Given the description of an element on the screen output the (x, y) to click on. 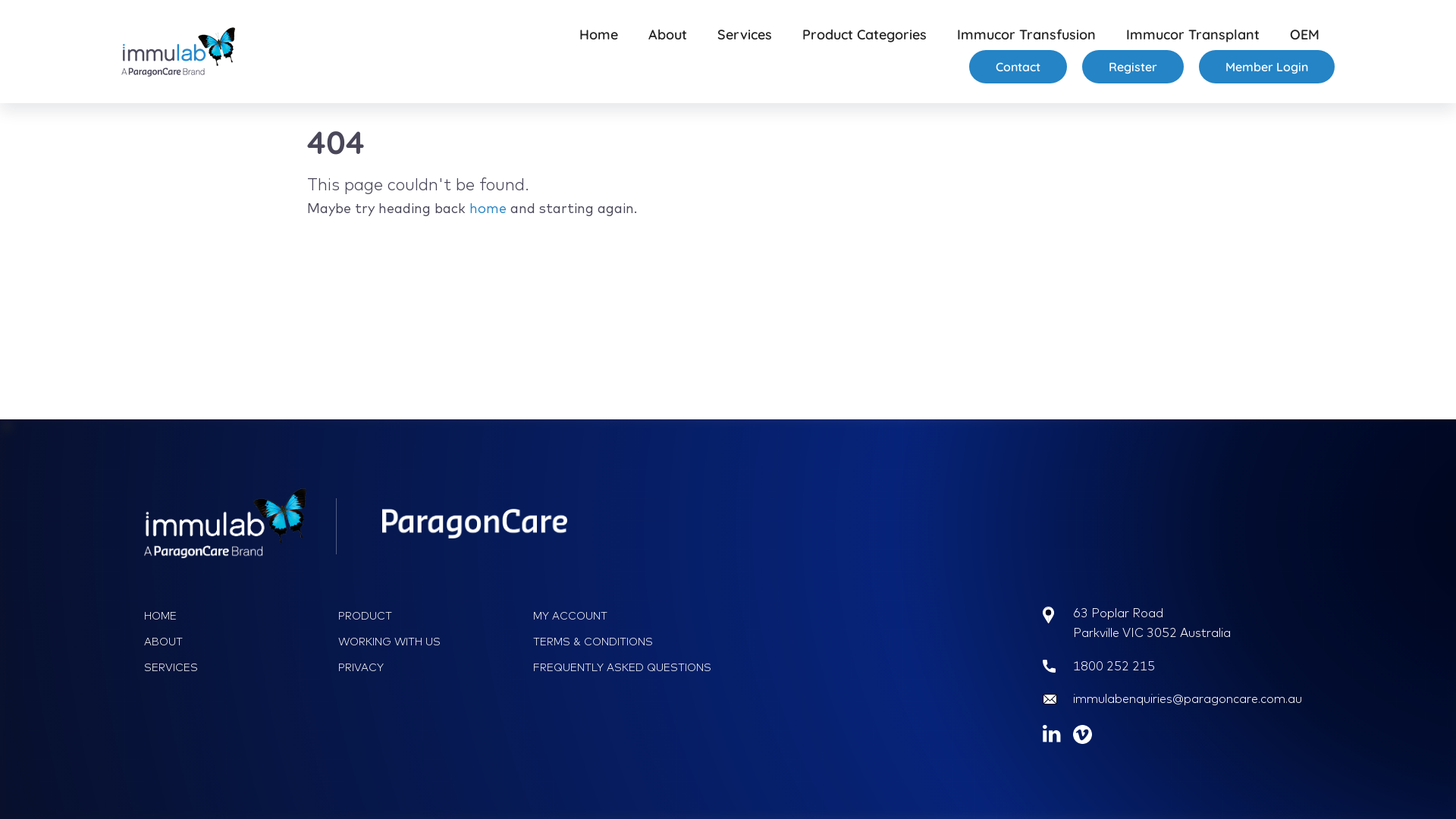
Member Login Element type: text (1266, 66)
immulabenquiries@paragoncare.com.au Element type: text (1187, 698)
Register Element type: text (1132, 66)
Services Element type: text (744, 34)
ABOUT Element type: text (235, 641)
TERMS & CONDITIONS Element type: text (624, 641)
SERVICES Element type: text (235, 666)
About Element type: text (667, 34)
WORKING WITH US Element type: text (429, 641)
FREQUENTLY ASKED QUESTIONS Element type: text (624, 666)
home Element type: text (487, 207)
Immucor Transplant Element type: text (1192, 34)
OEM Element type: text (1304, 34)
Product Categories Element type: text (864, 34)
HOME Element type: text (235, 615)
PRIVACY Element type: text (429, 666)
PRODUCT Element type: text (429, 615)
Immucor Transfusion Element type: text (1026, 34)
MY ACCOUNT Element type: text (624, 615)
1800 252 215 Element type: text (1113, 665)
Contact Element type: text (1017, 66)
Home Element type: text (598, 34)
